Given the description of an element on the screen output the (x, y) to click on. 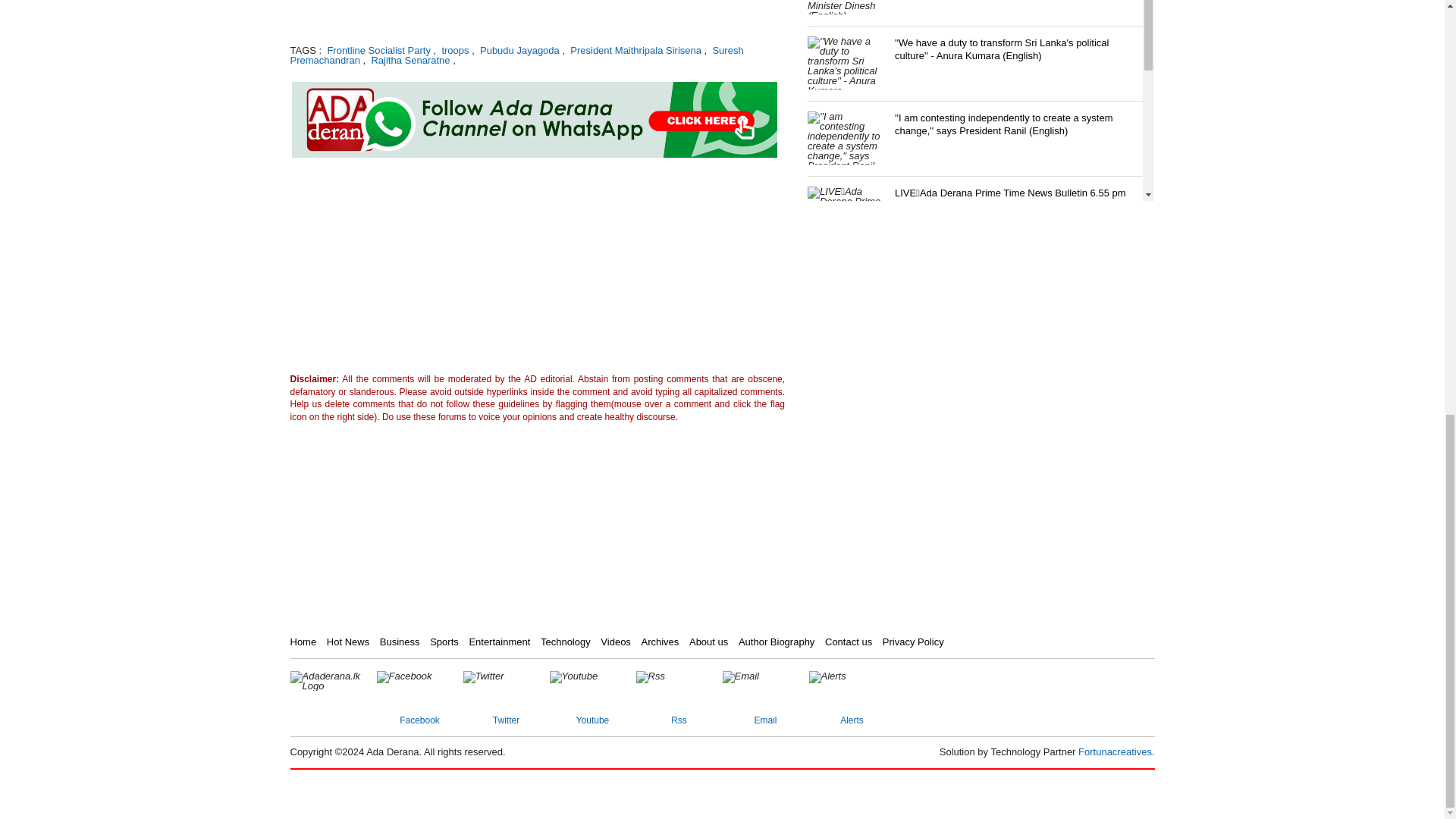
 Suresh Premachandran (515, 55)
 Frontline Socialist Party (377, 50)
 Pubudu Jayagoda (518, 50)
 troops (453, 50)
 Rajitha Senaratne (408, 60)
 President Maithripala Sirisena (634, 50)
